Given the description of an element on the screen output the (x, y) to click on. 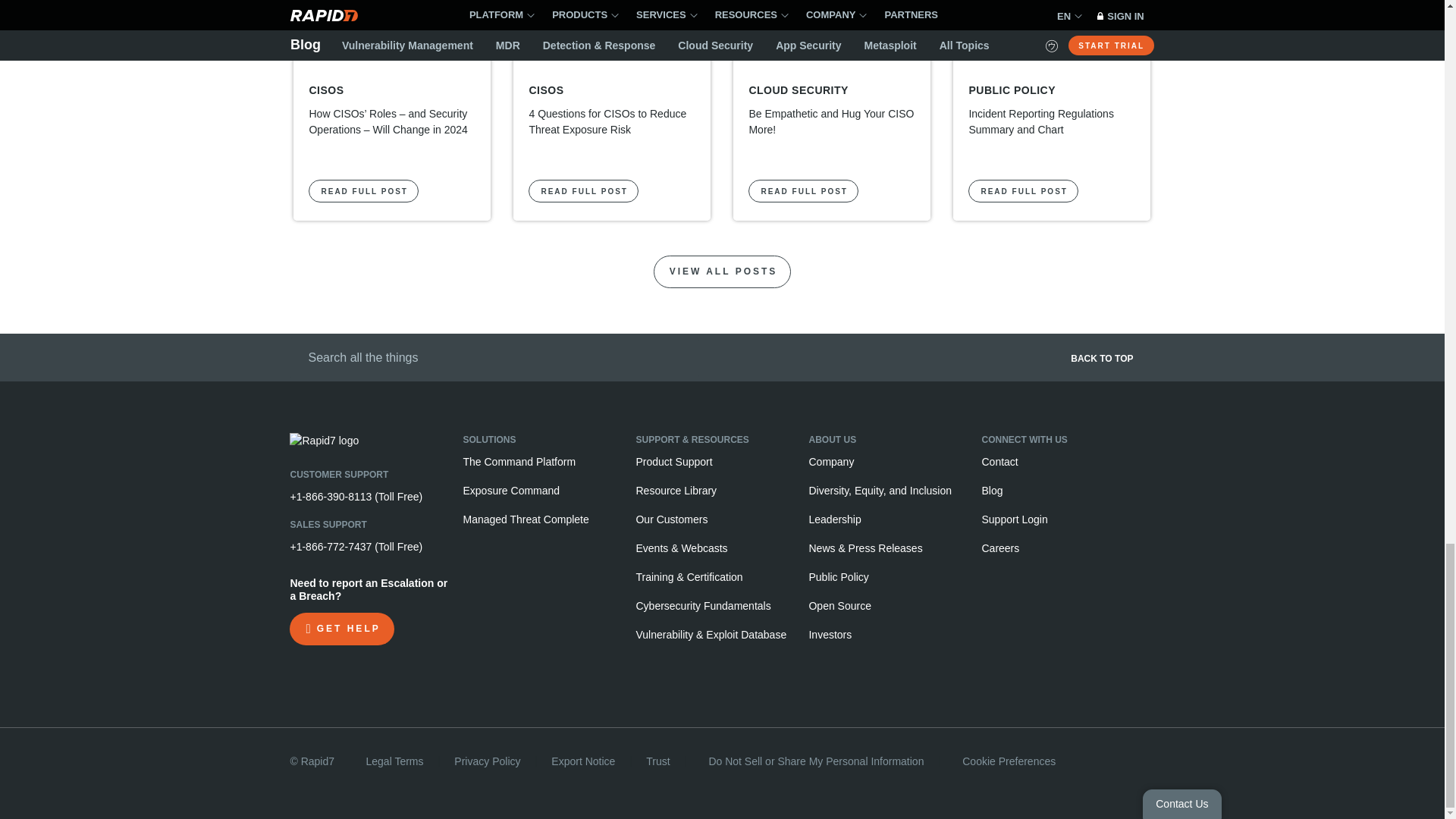
Submit Search (294, 355)
Submit Search (294, 355)
BACK TO TOP (949, 363)
